Given the description of an element on the screen output the (x, y) to click on. 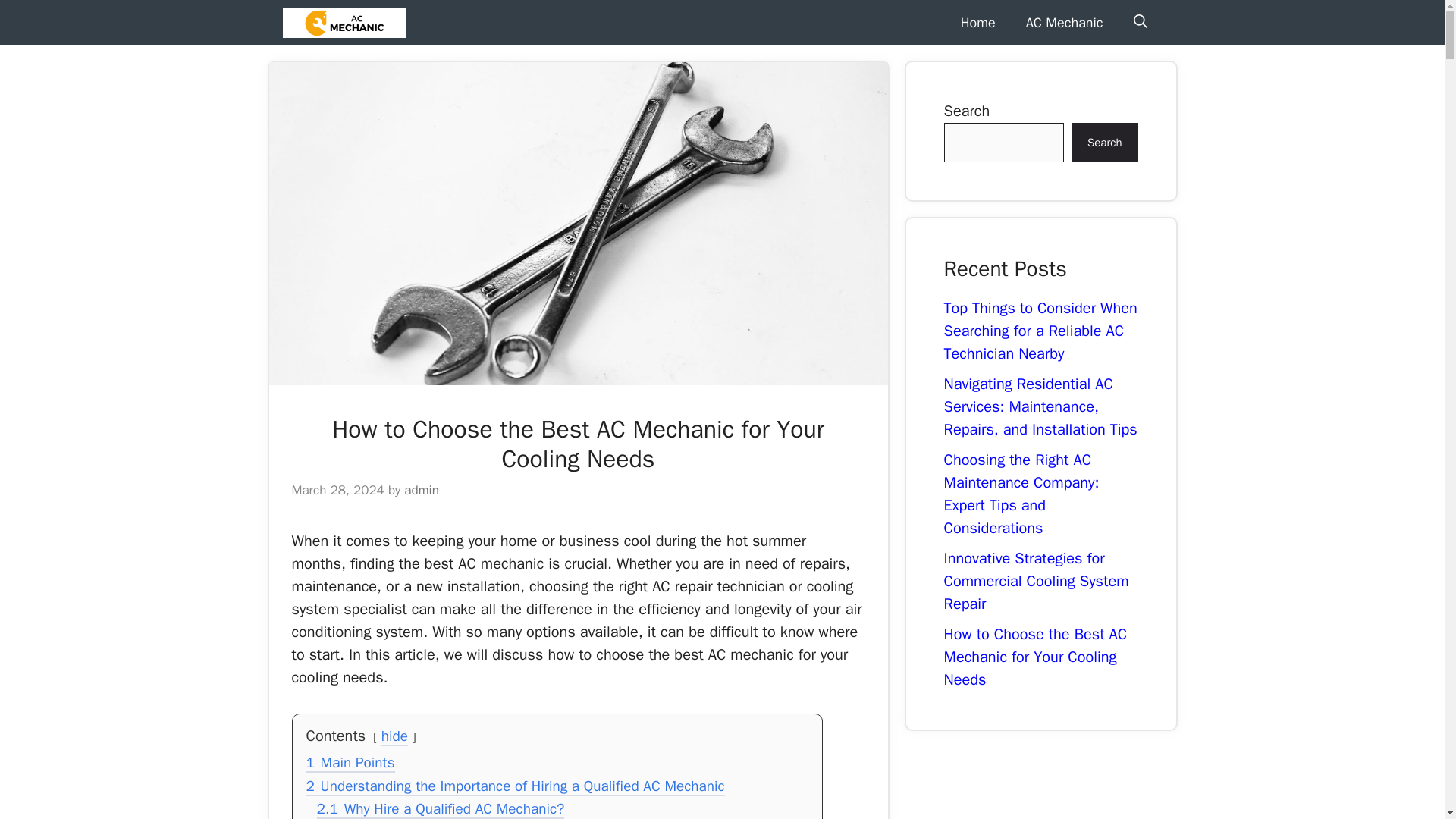
hide (394, 737)
AC Mechanic (1064, 22)
2.1 Why Hire a Qualified AC Mechanic? (440, 809)
1 Main Points (349, 763)
AC Mechanic (344, 22)
View all posts by admin (421, 489)
admin (421, 489)
Home (977, 22)
